Given the description of an element on the screen output the (x, y) to click on. 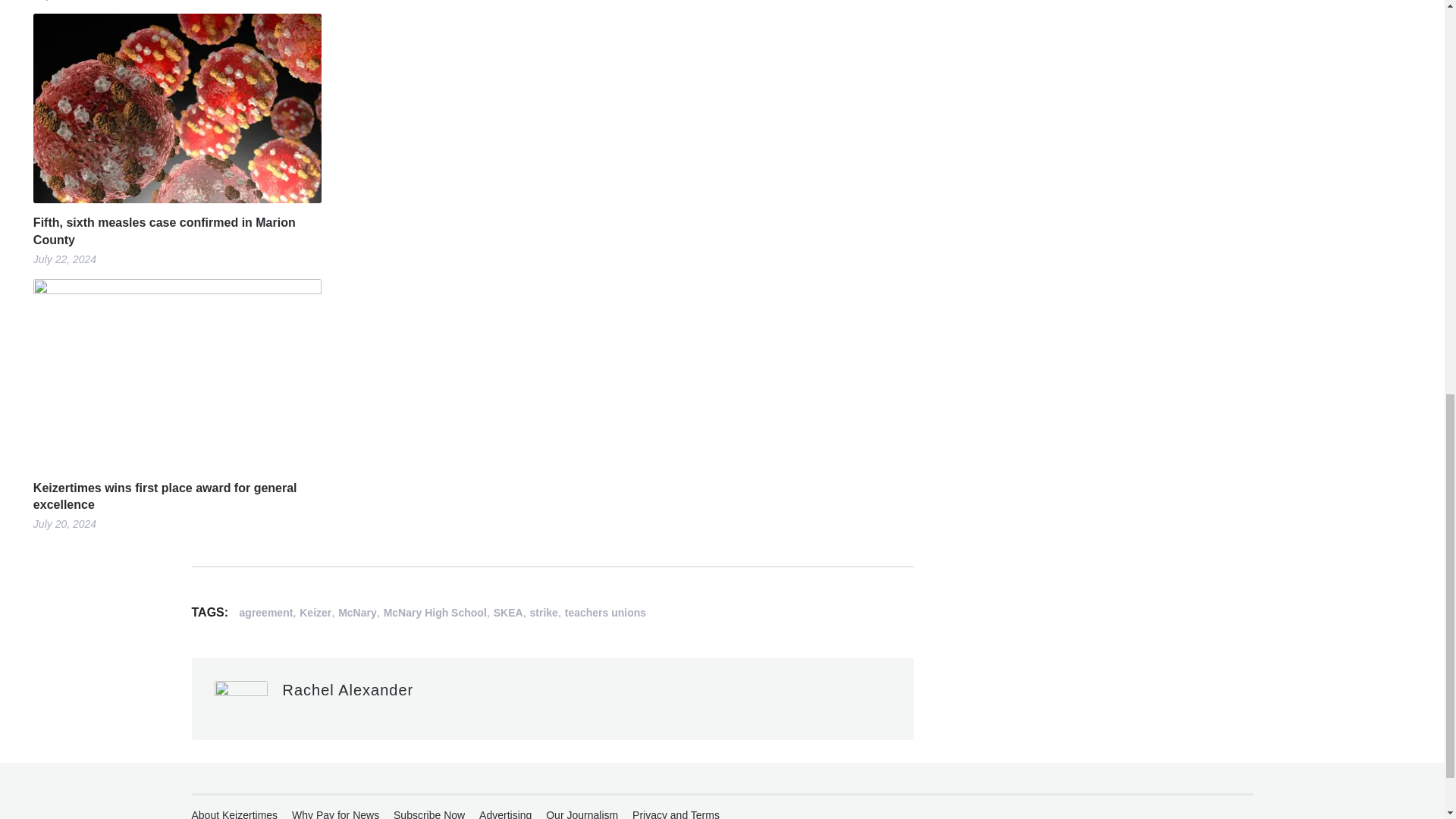
Fifth, sixth measles case confirmed in Marion County (177, 231)
Keizertimes wins first place award for general excellence (177, 496)
Posts by Rachel Alexander (347, 689)
